Given the description of an element on the screen output the (x, y) to click on. 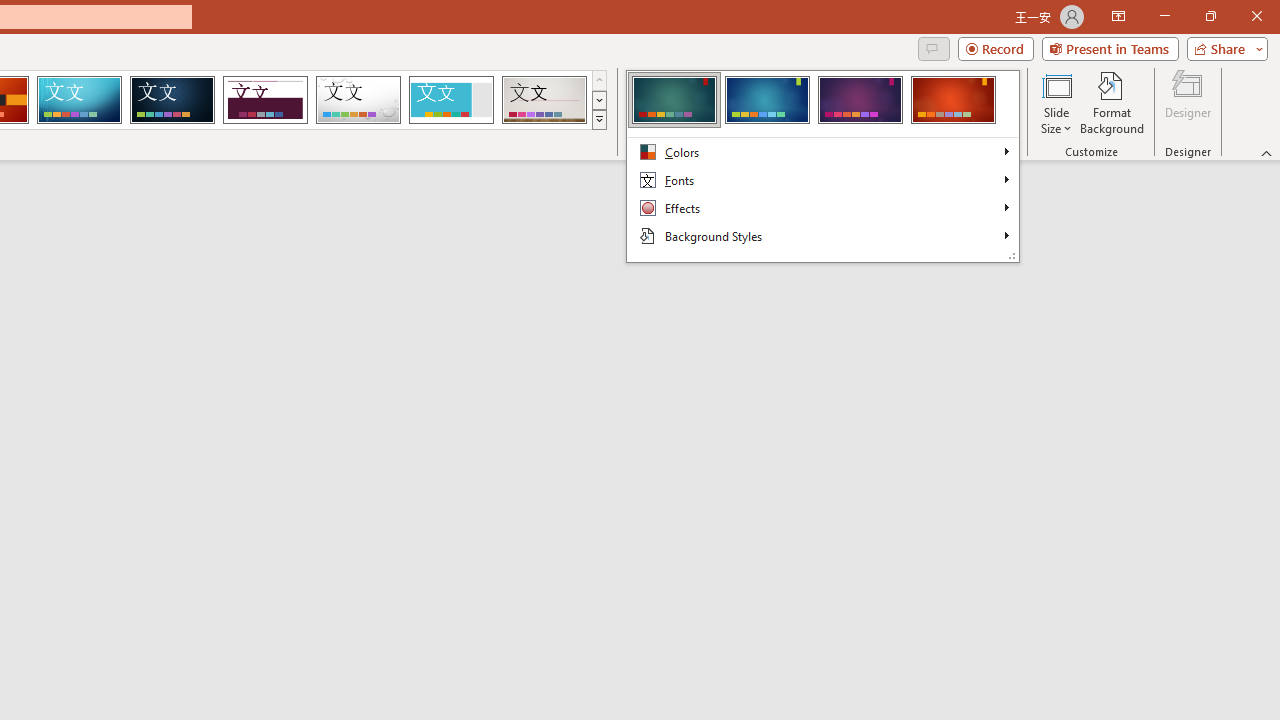
Gallery Loading Preview... (544, 100)
Frame Loading Preview... (450, 100)
Dividend Loading Preview... (265, 100)
Circuit Loading Preview... (79, 100)
